Given the description of an element on the screen output the (x, y) to click on. 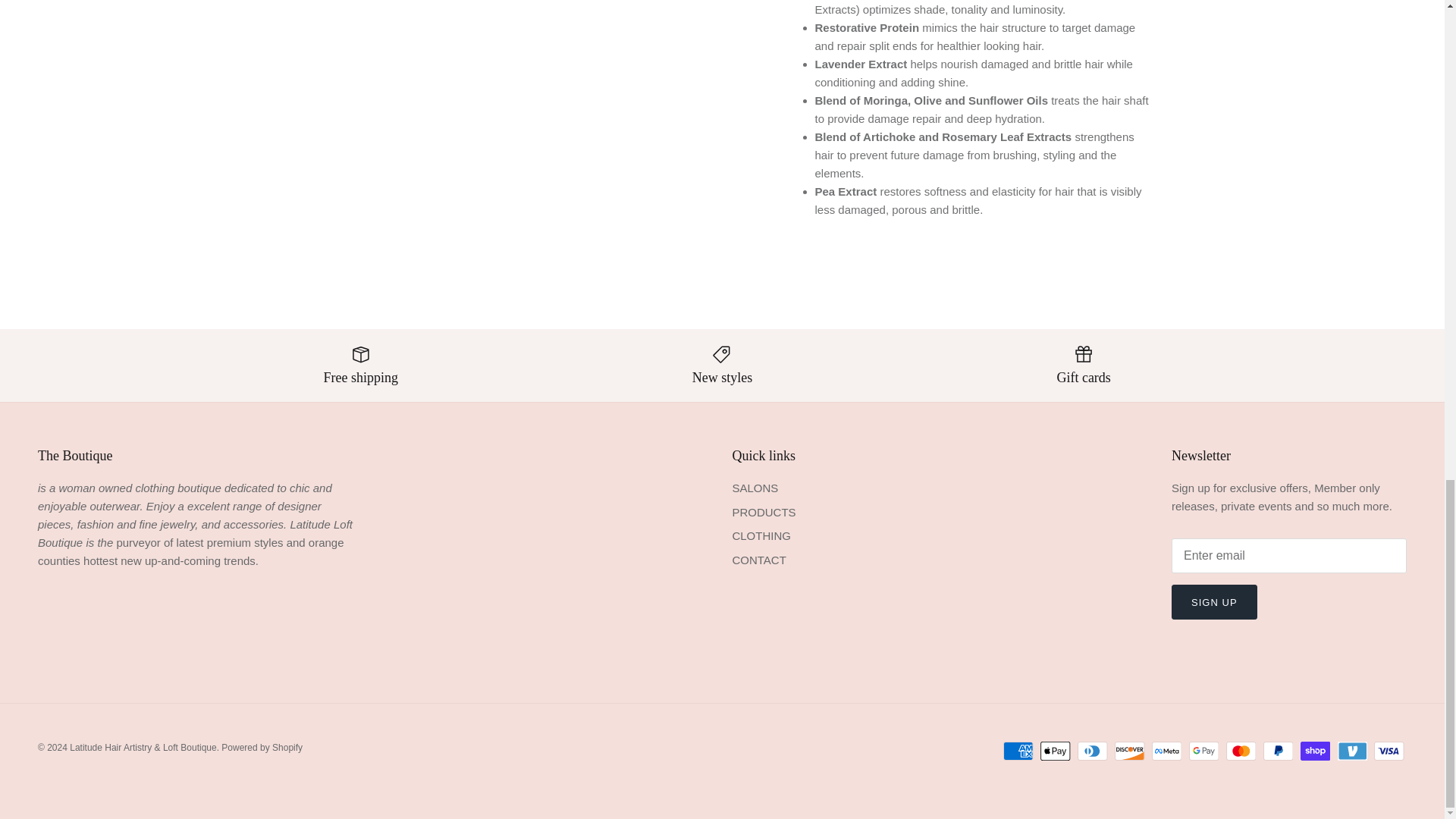
PayPal (1277, 751)
SALONS (754, 487)
Google Pay (1203, 751)
Shop Pay (1315, 751)
CONTACT (759, 559)
Apple Pay (1055, 751)
Diners Club (1092, 751)
PRODUCTS (763, 512)
CLOTHING (761, 535)
American Express (1018, 751)
Meta Pay (1166, 751)
Mastercard (1240, 751)
Discover (1129, 751)
